Given the description of an element on the screen output the (x, y) to click on. 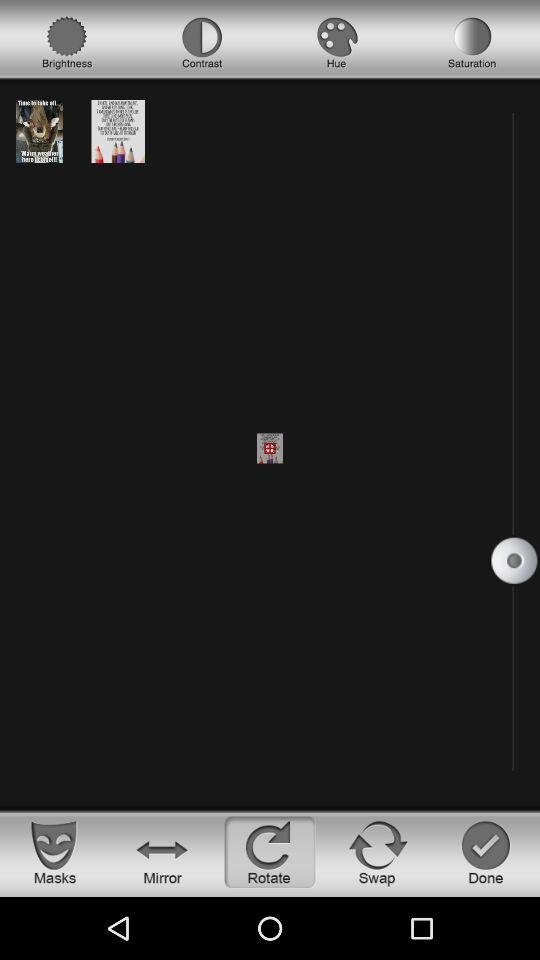
select new image (39, 130)
